Given the description of an element on the screen output the (x, y) to click on. 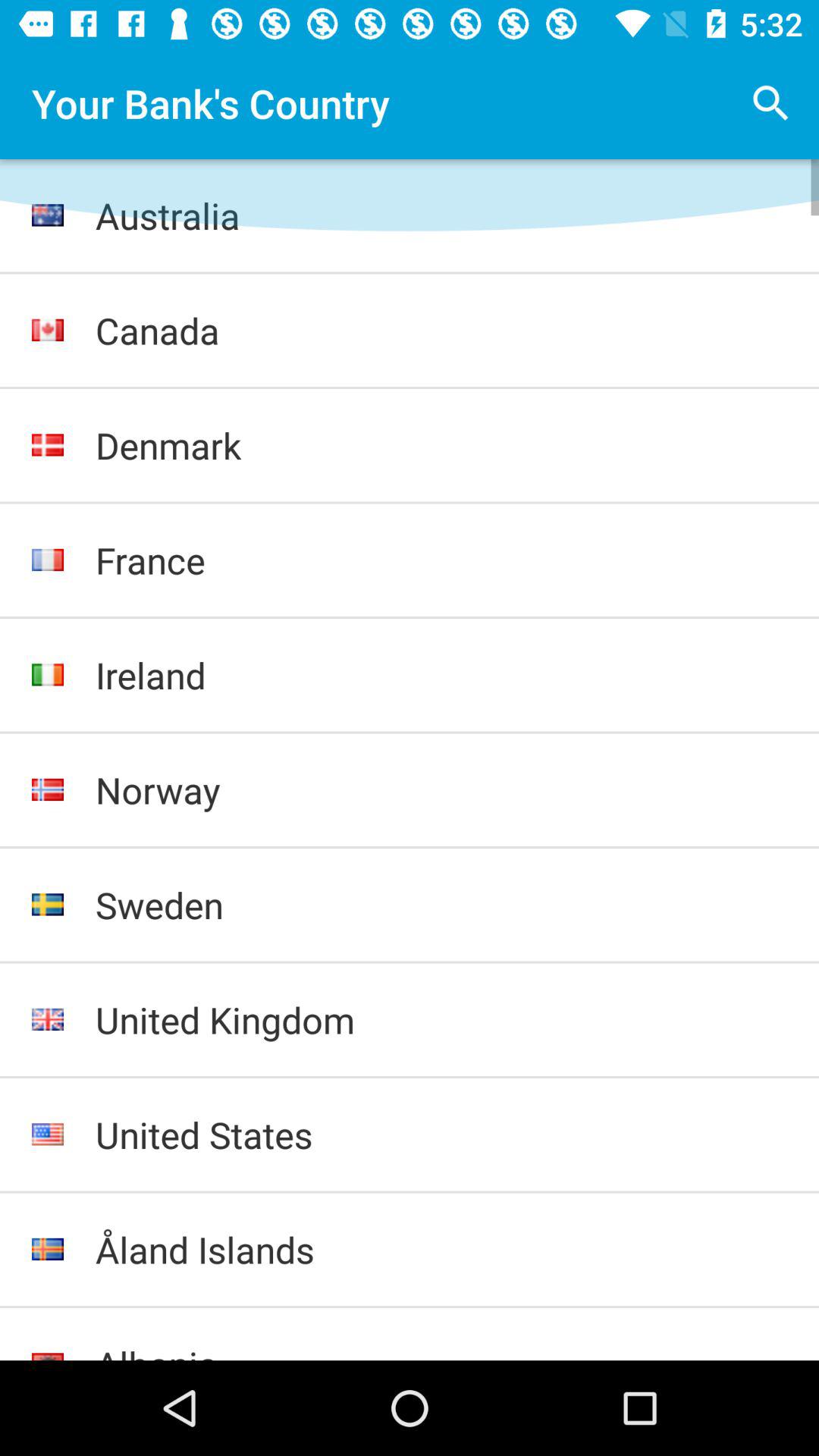
tap the ireland icon (441, 674)
